Given the description of an element on the screen output the (x, y) to click on. 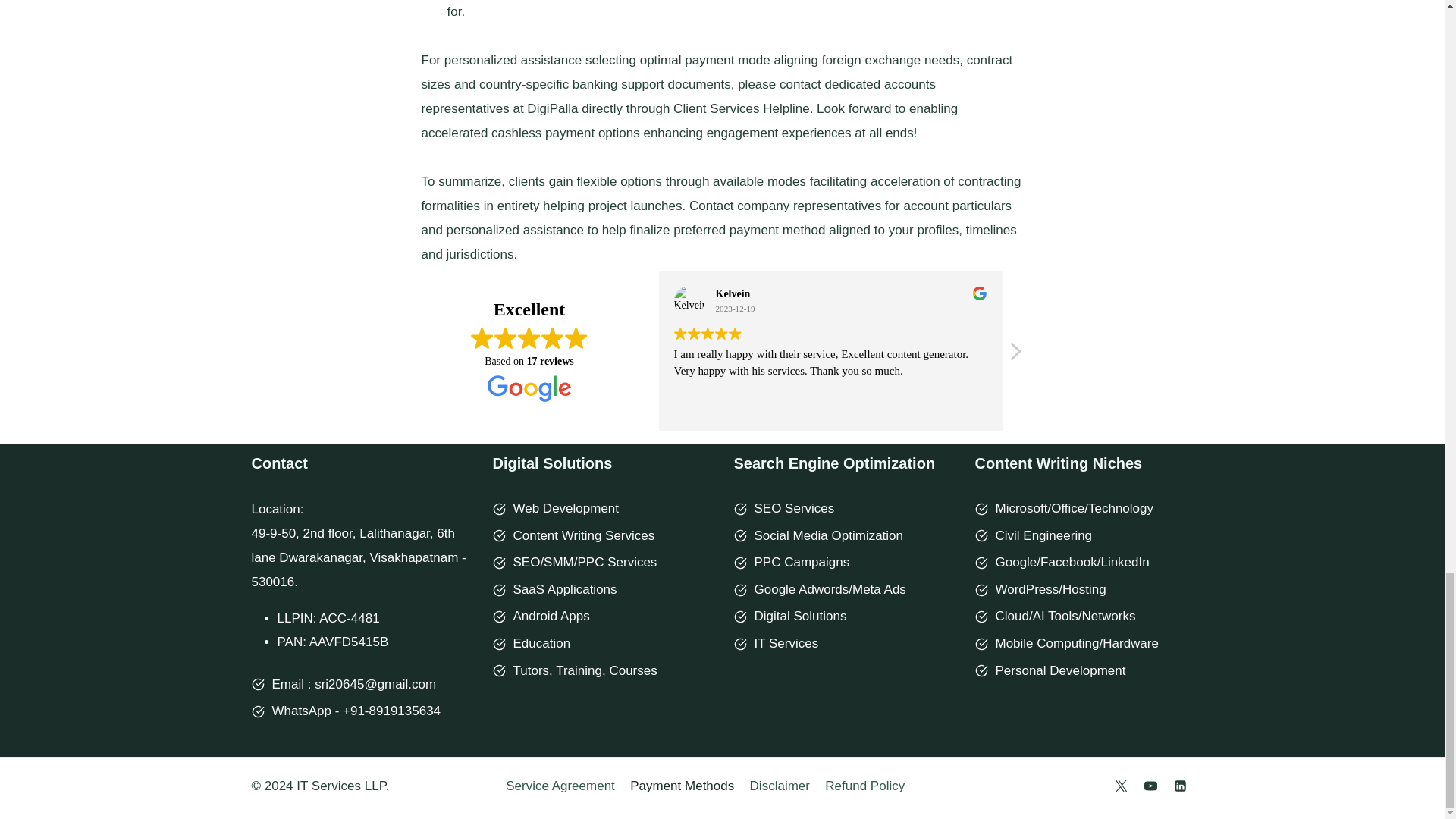
Service Agreement (560, 786)
Payment Methods (682, 786)
Disclaimer (778, 786)
Refund Policy (864, 786)
